Given the description of an element on the screen output the (x, y) to click on. 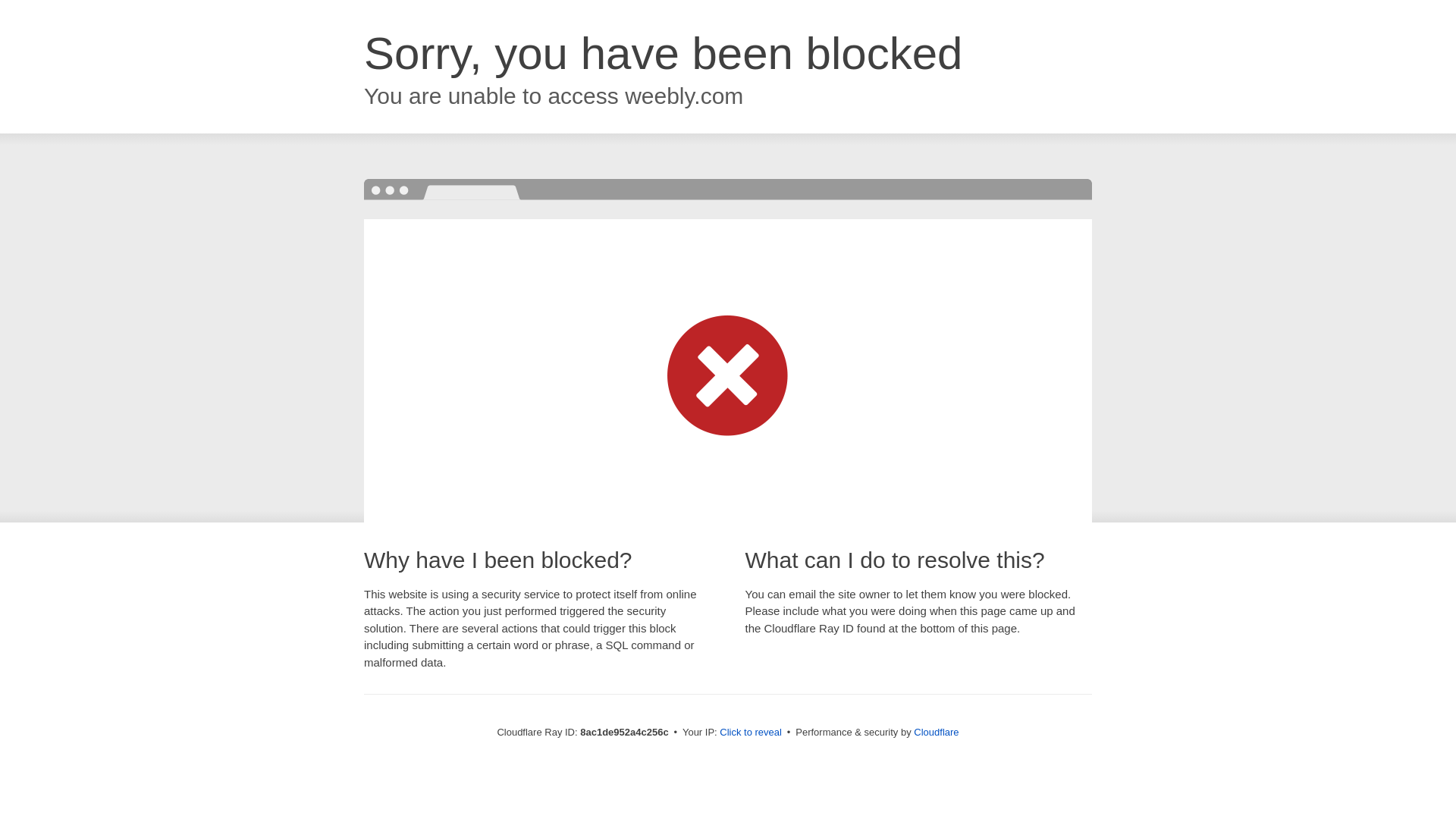
Cloudflare (936, 731)
Click to reveal (750, 732)
